Given the description of an element on the screen output the (x, y) to click on. 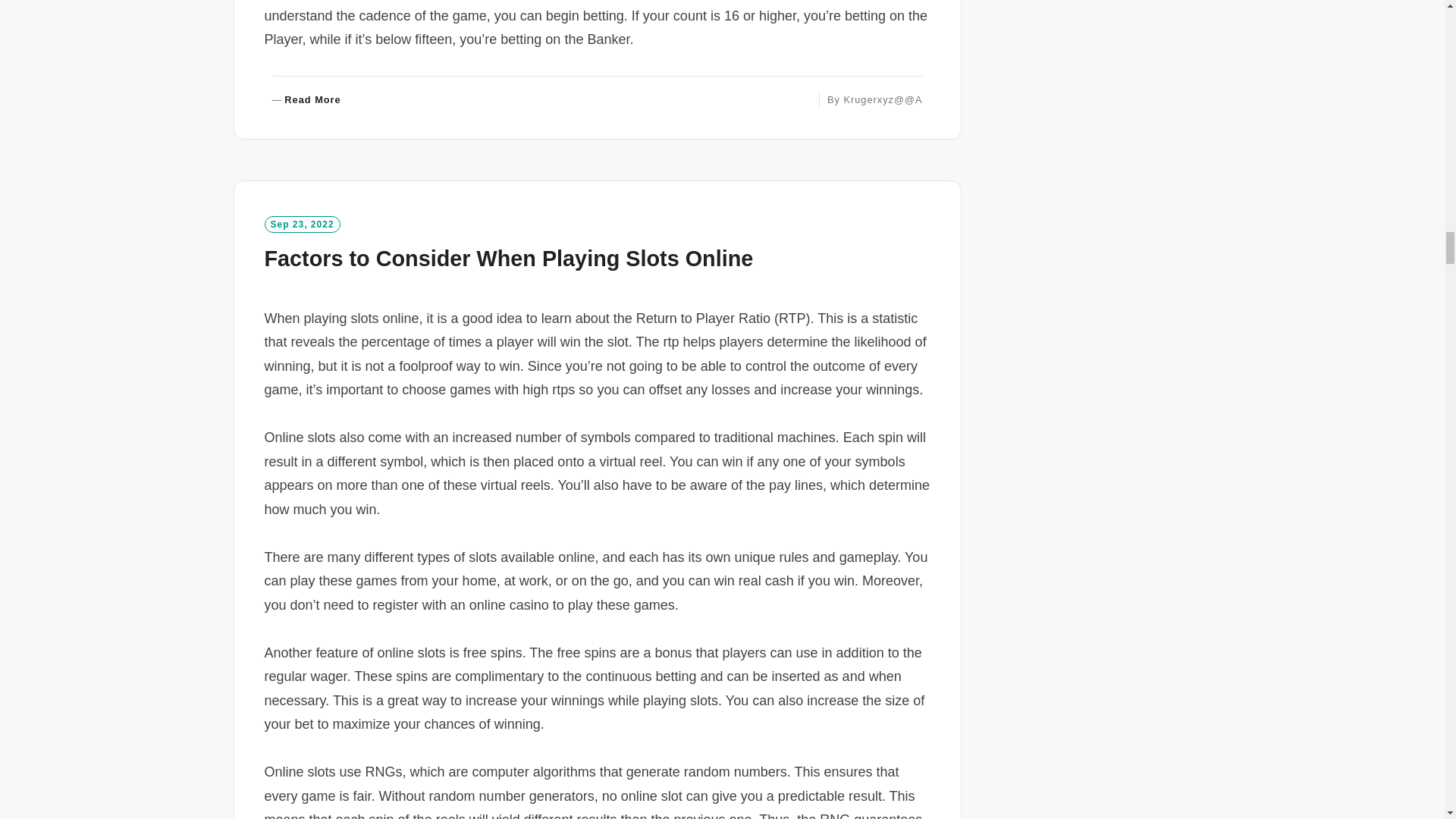
Factors to Consider When Playing Slots Online (305, 100)
Sep 23, 2022 (507, 258)
